Given the description of an element on the screen output the (x, y) to click on. 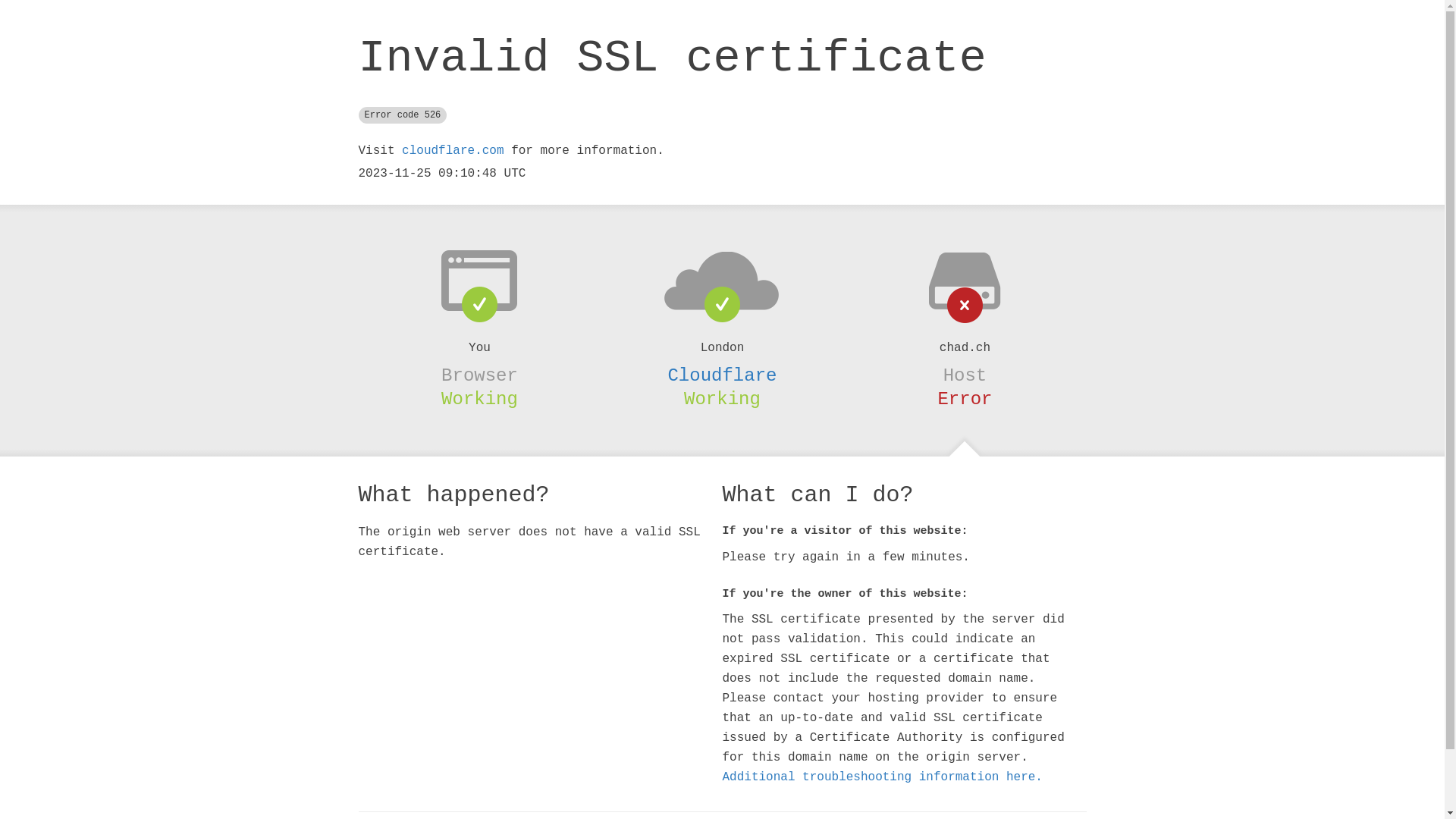
Additional troubleshooting information here. Element type: text (881, 777)
cloudflare.com Element type: text (452, 150)
Cloudflare Element type: text (721, 375)
